Given the description of an element on the screen output the (x, y) to click on. 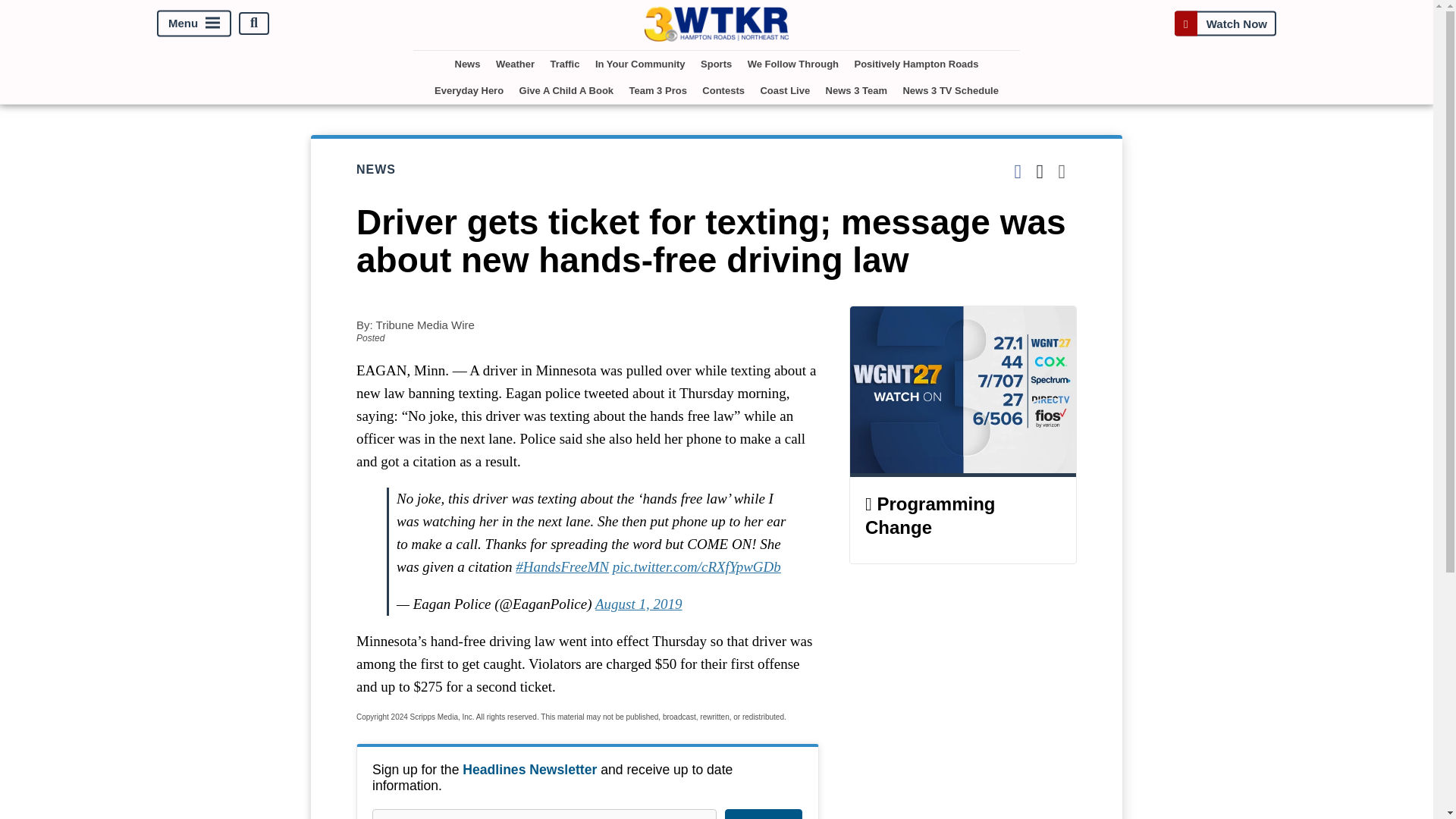
Menu (194, 22)
Submit (763, 813)
Watch Now (1224, 22)
